Given the description of an element on the screen output the (x, y) to click on. 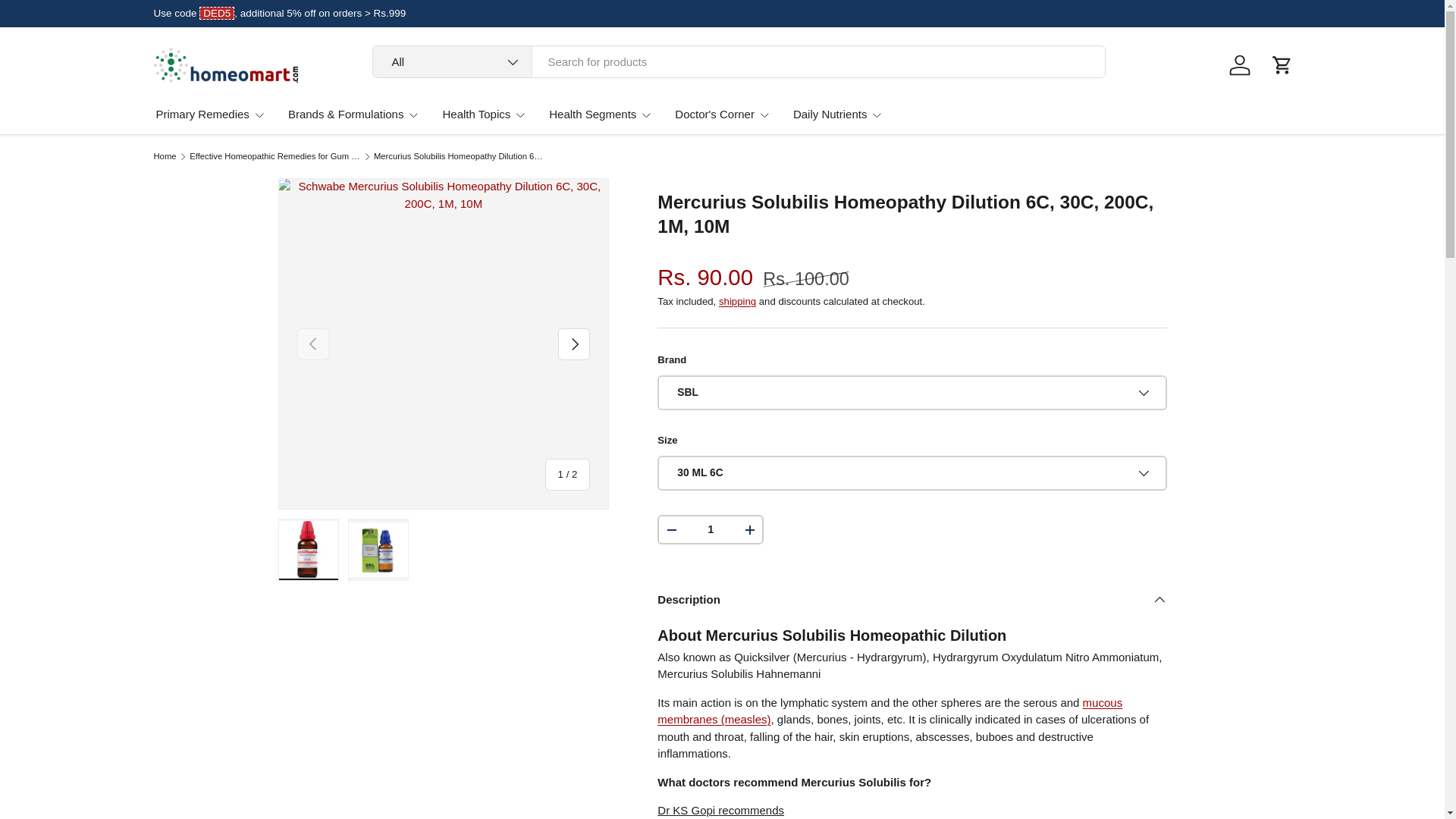
Log in (1239, 64)
All (452, 60)
Cart (1281, 64)
Primary Remedies (209, 114)
1 (710, 529)
Skip to content (66, 21)
